Given the description of an element on the screen output the (x, y) to click on. 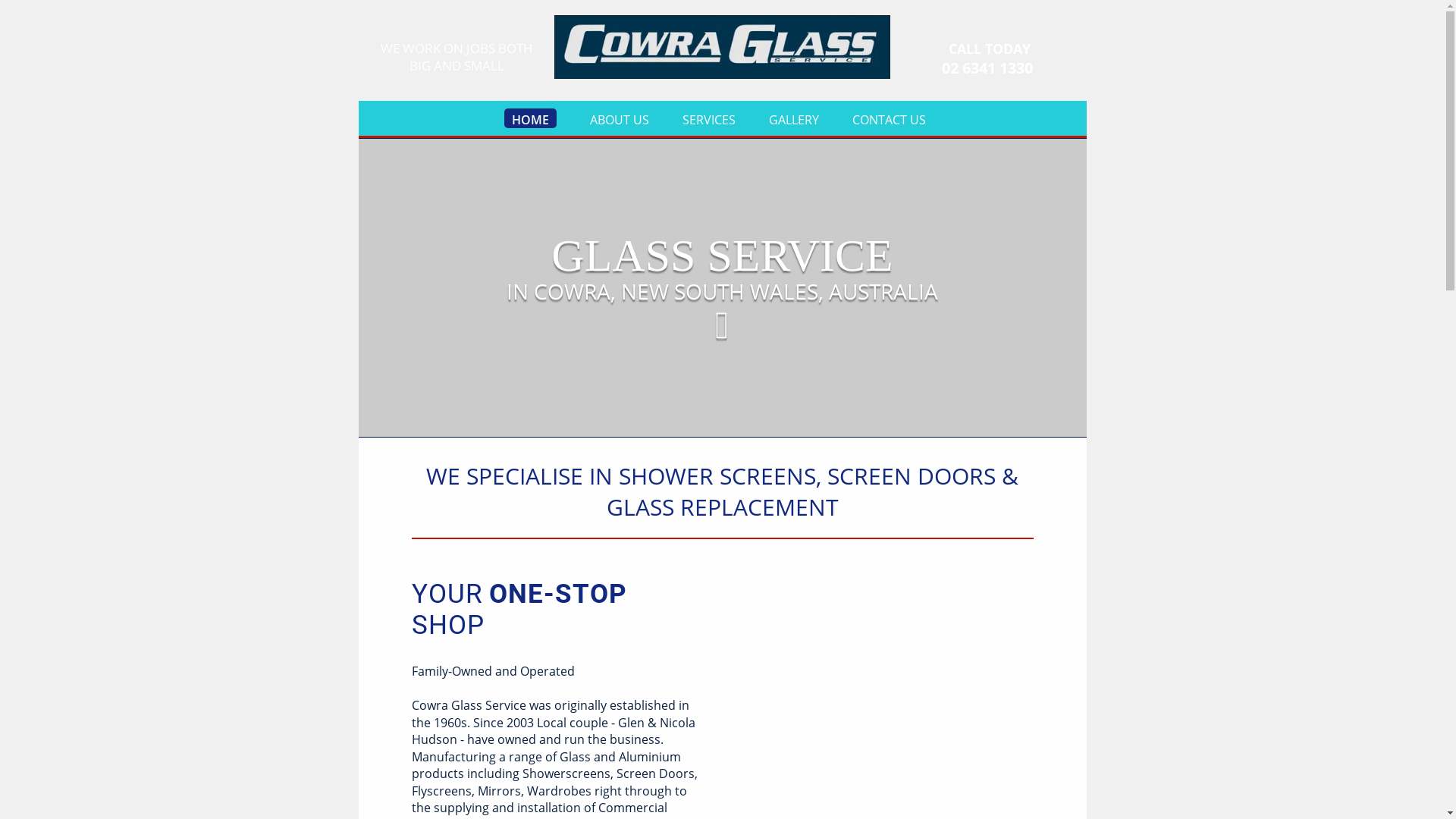
HOME Element type: text (529, 117)
02 6341 1330 Element type: text (986, 67)
ABOUT US Element type: text (619, 117)
SERVICES Element type: text (708, 117)
GALLERY Element type: text (793, 117)
CONTACT US Element type: text (888, 117)
